Given the description of an element on the screen output the (x, y) to click on. 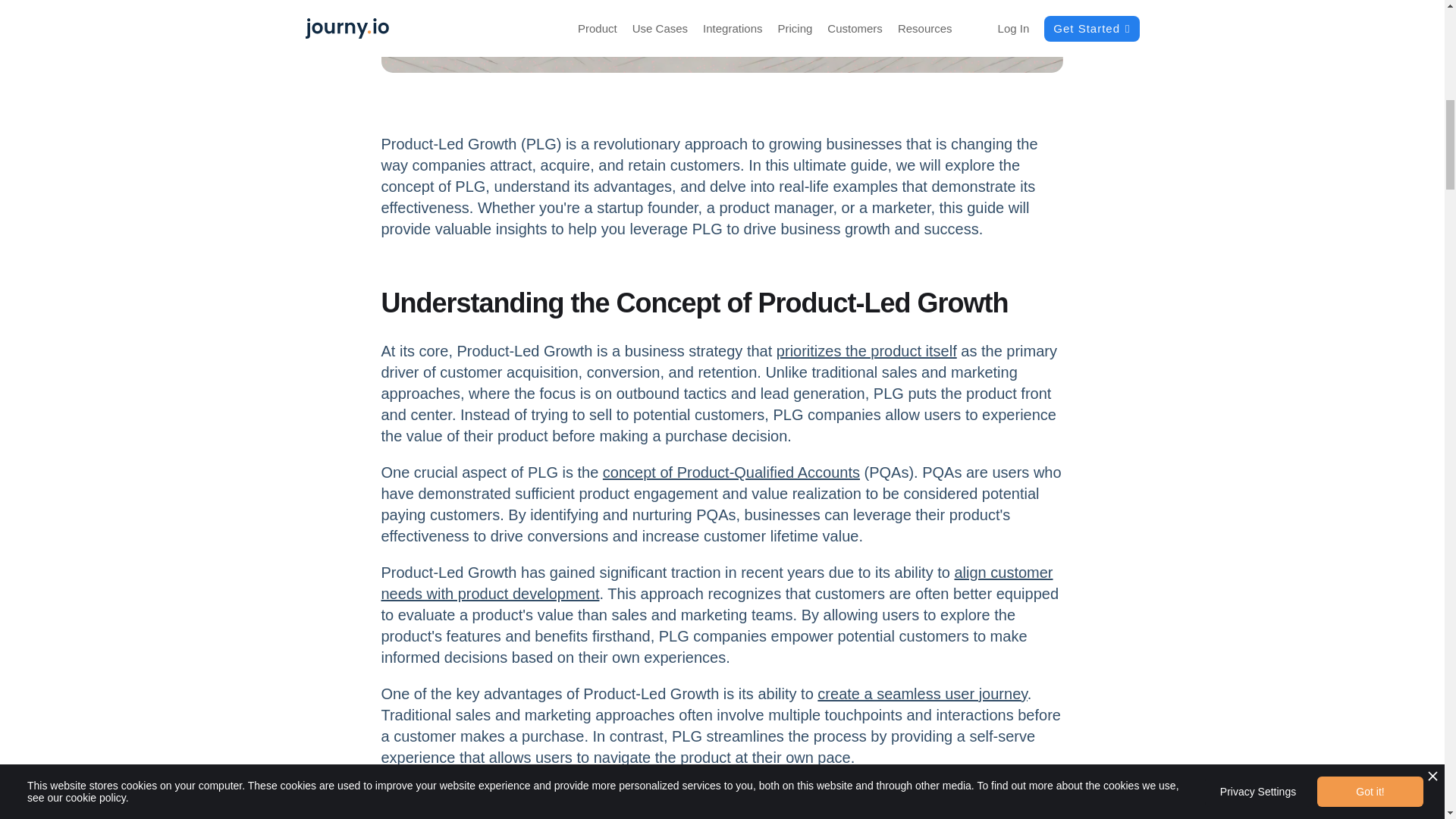
concept of Product-Qualified Accounts (731, 472)
align customer needs with product development (716, 582)
prioritizes the product itself (866, 351)
create a seamless user journey (921, 693)
